Given the description of an element on the screen output the (x, y) to click on. 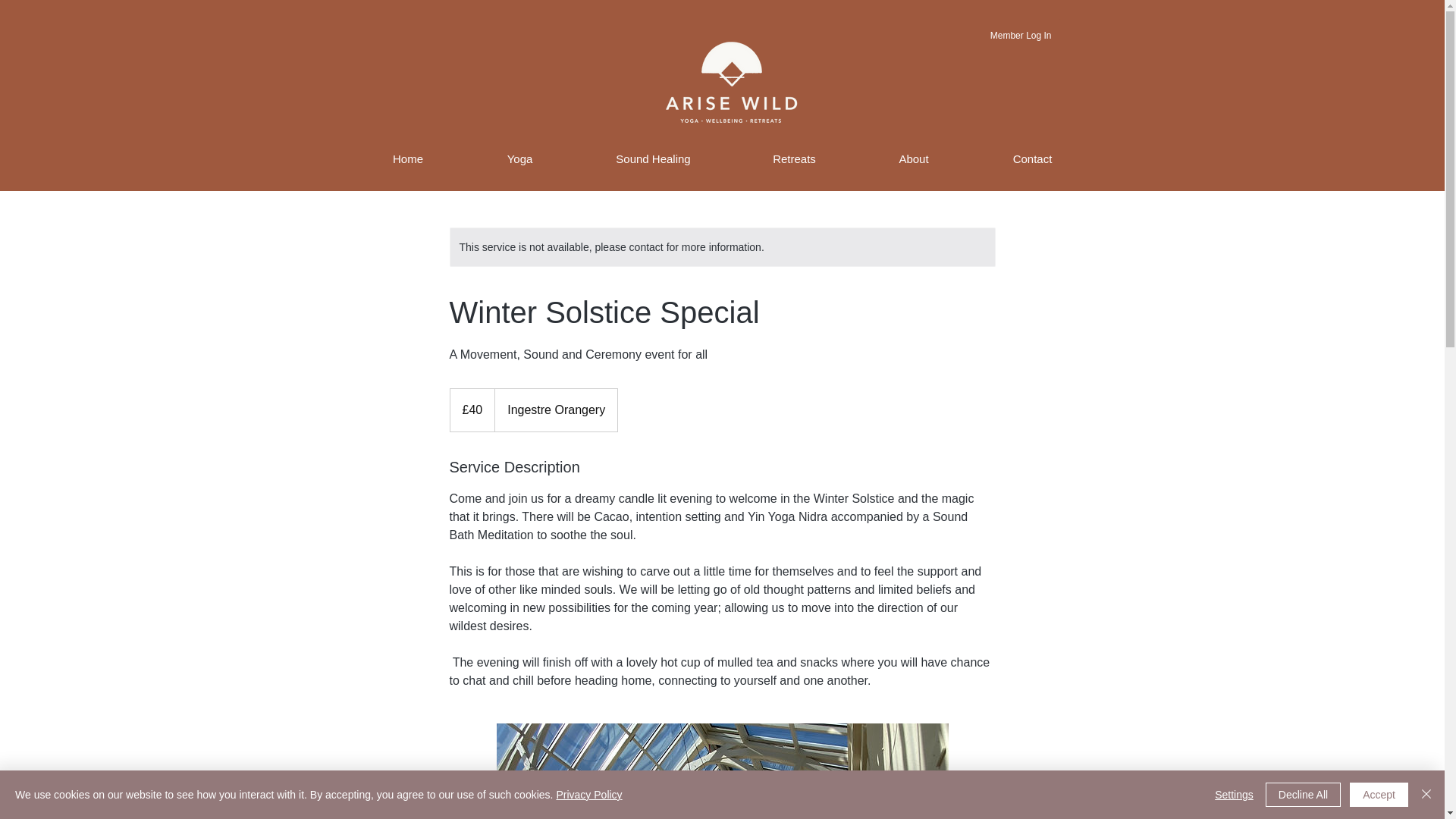
Home (407, 156)
Sound Healing (653, 156)
Privacy Policy (588, 794)
About (914, 156)
Yoga (520, 156)
Member Log In (1020, 35)
Contact (1032, 156)
Retreats (794, 156)
Decline All (1302, 794)
Accept (1378, 794)
